Given the description of an element on the screen output the (x, y) to click on. 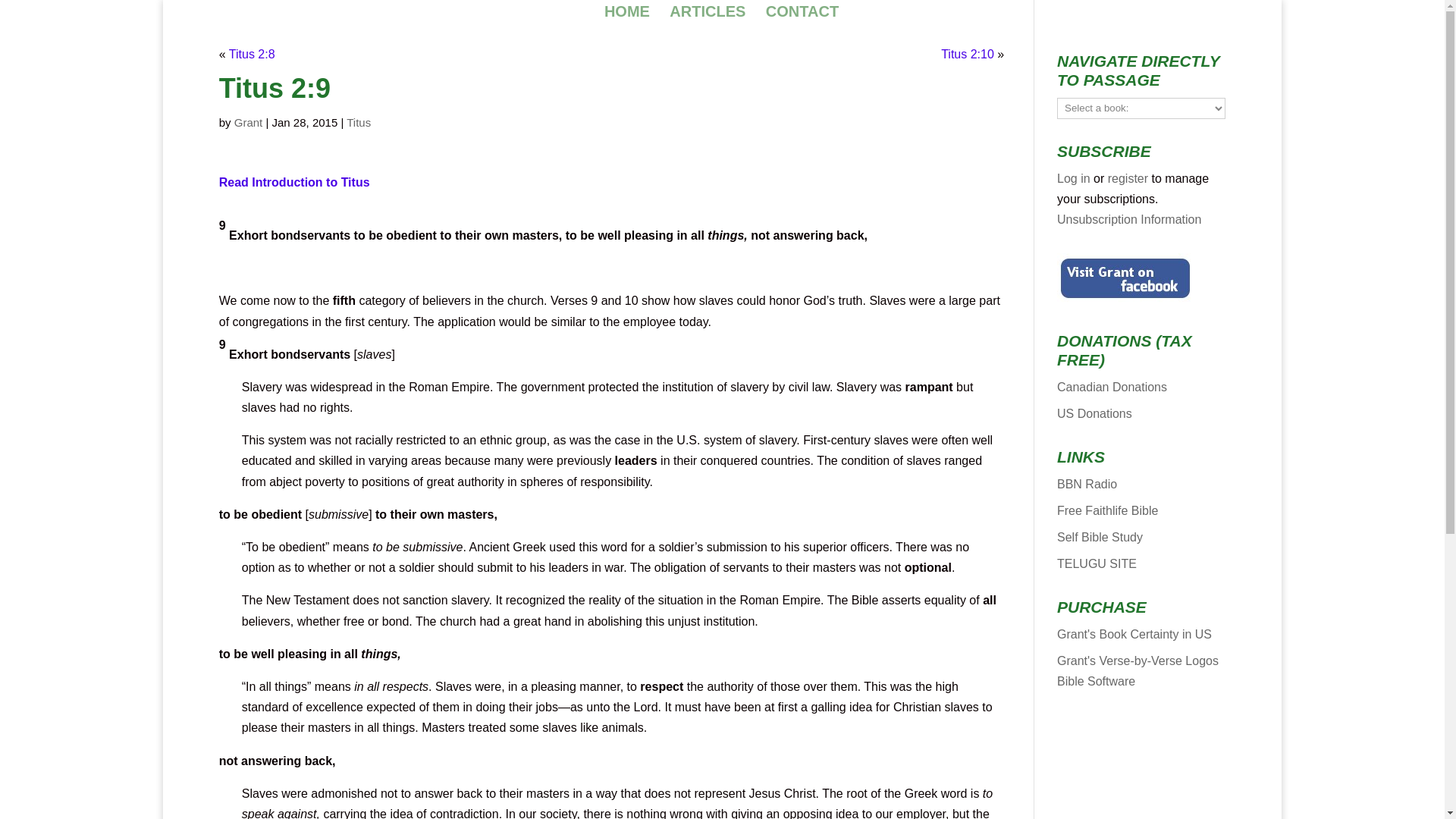
Unsubscription Information (1129, 219)
Grant's Book Certainty in US (1134, 634)
BBN Radio (1086, 483)
Log in (1073, 178)
TELUGU SITE (1097, 563)
Free Study Bible with many resources (1107, 510)
Grant (248, 122)
ARTICLES (707, 12)
Free Faithlife Bible (1107, 510)
CONTACT (801, 12)
Telugu verse-by-verse commentary (1097, 563)
Visit Grant on FaceBook (1125, 277)
Canadian Donations (1112, 386)
Titus (358, 122)
Titus 2:10 (967, 53)
